Given the description of an element on the screen output the (x, y) to click on. 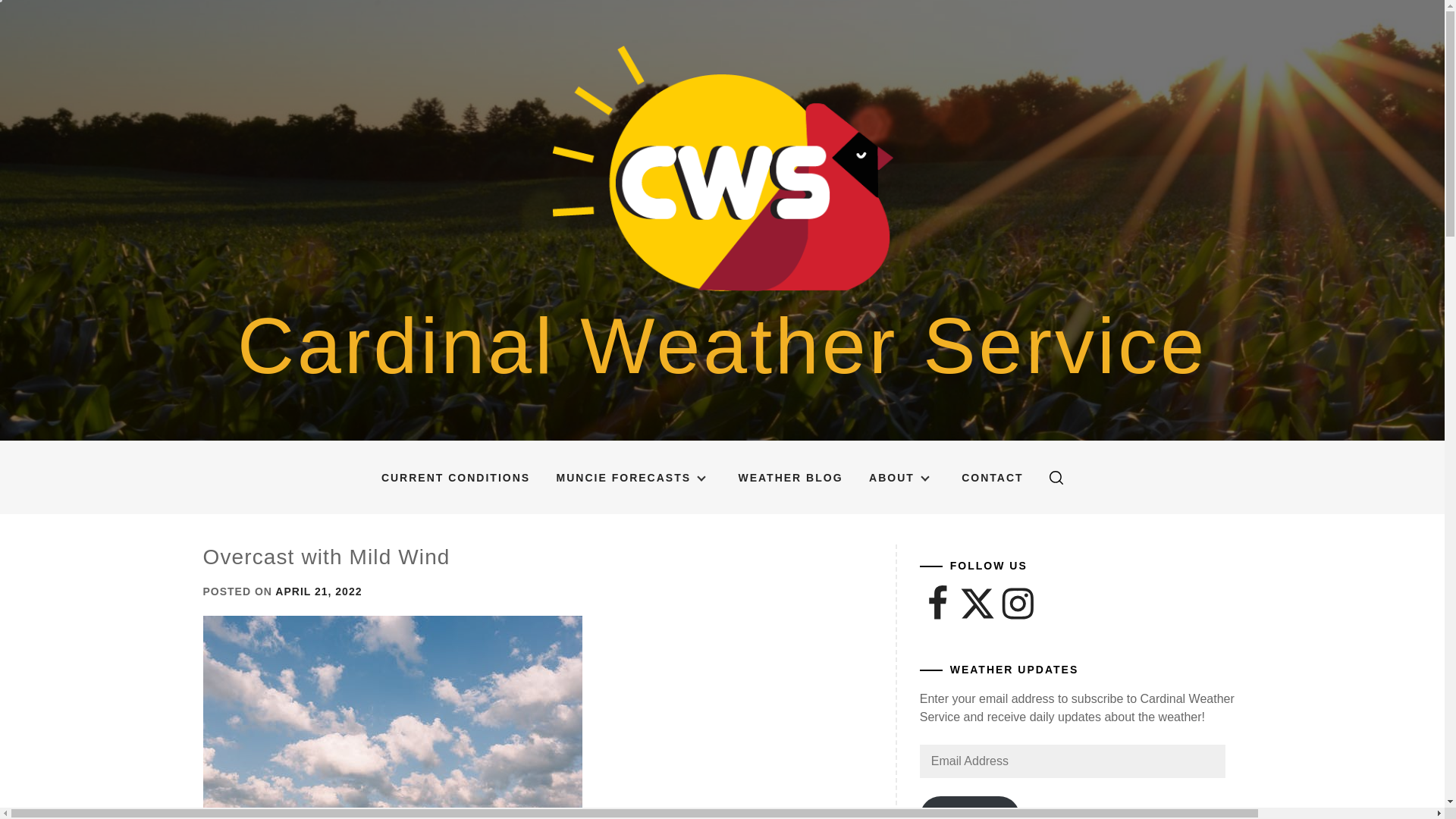
MUNCIE FORECASTS (633, 477)
CURRENT CONDITIONS (455, 477)
WEATHER BLOG (789, 477)
Search (797, 402)
ABOUT (902, 477)
CONTACT (991, 477)
APRIL 21, 2022 (318, 591)
Cardinal Weather Service (722, 345)
